Given the description of an element on the screen output the (x, y) to click on. 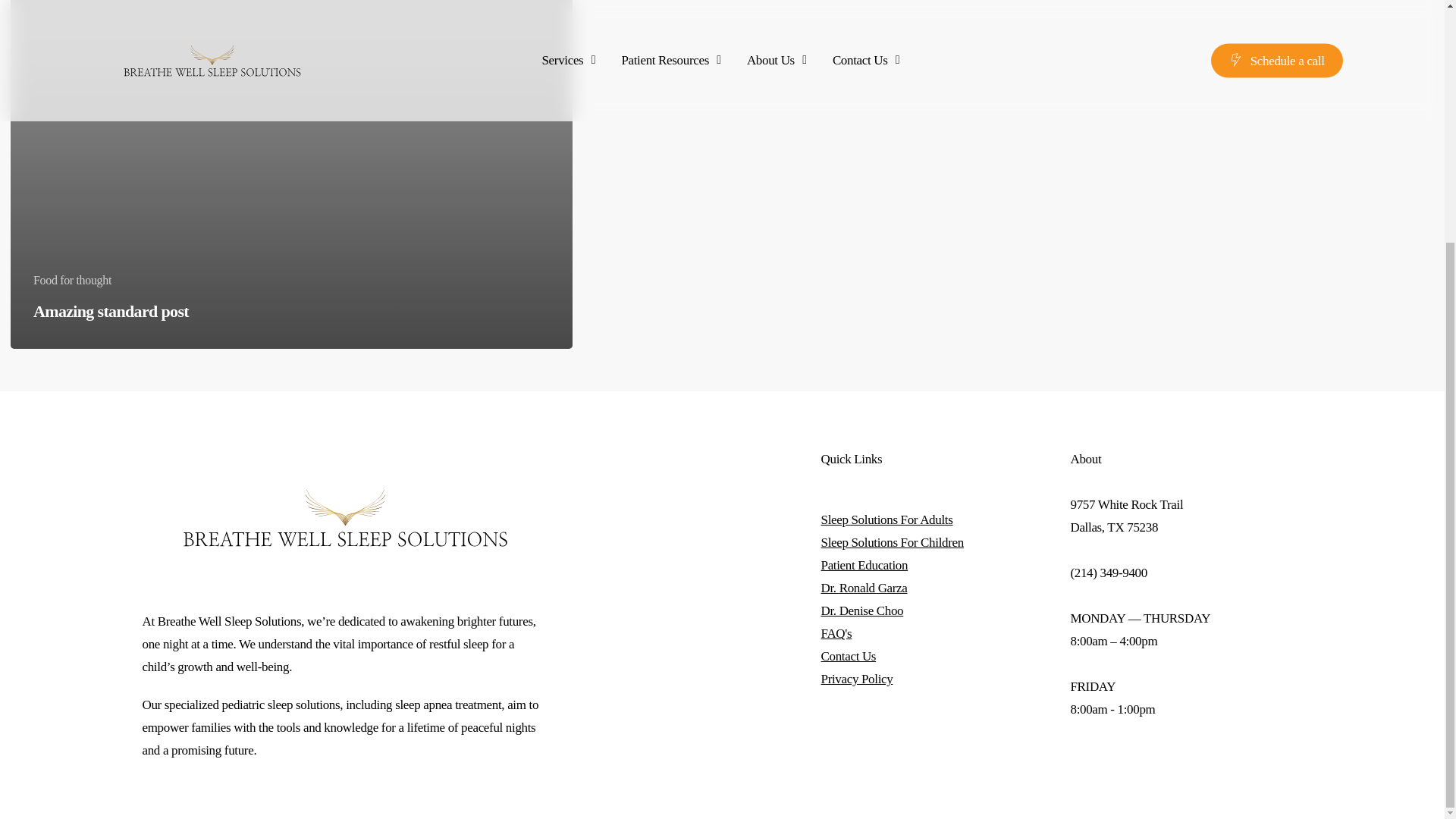
Dr. Ronald Garza (864, 587)
Sleep Solutions For Adults (887, 519)
Patient Education (864, 564)
Dr. Denise Choo (862, 610)
Food for thought (72, 280)
Contact Us (848, 656)
Privacy Policy (857, 678)
FAQ's (836, 633)
Sleep Solutions For Children (892, 542)
Amazing standard post (111, 311)
